Given the description of an element on the screen output the (x, y) to click on. 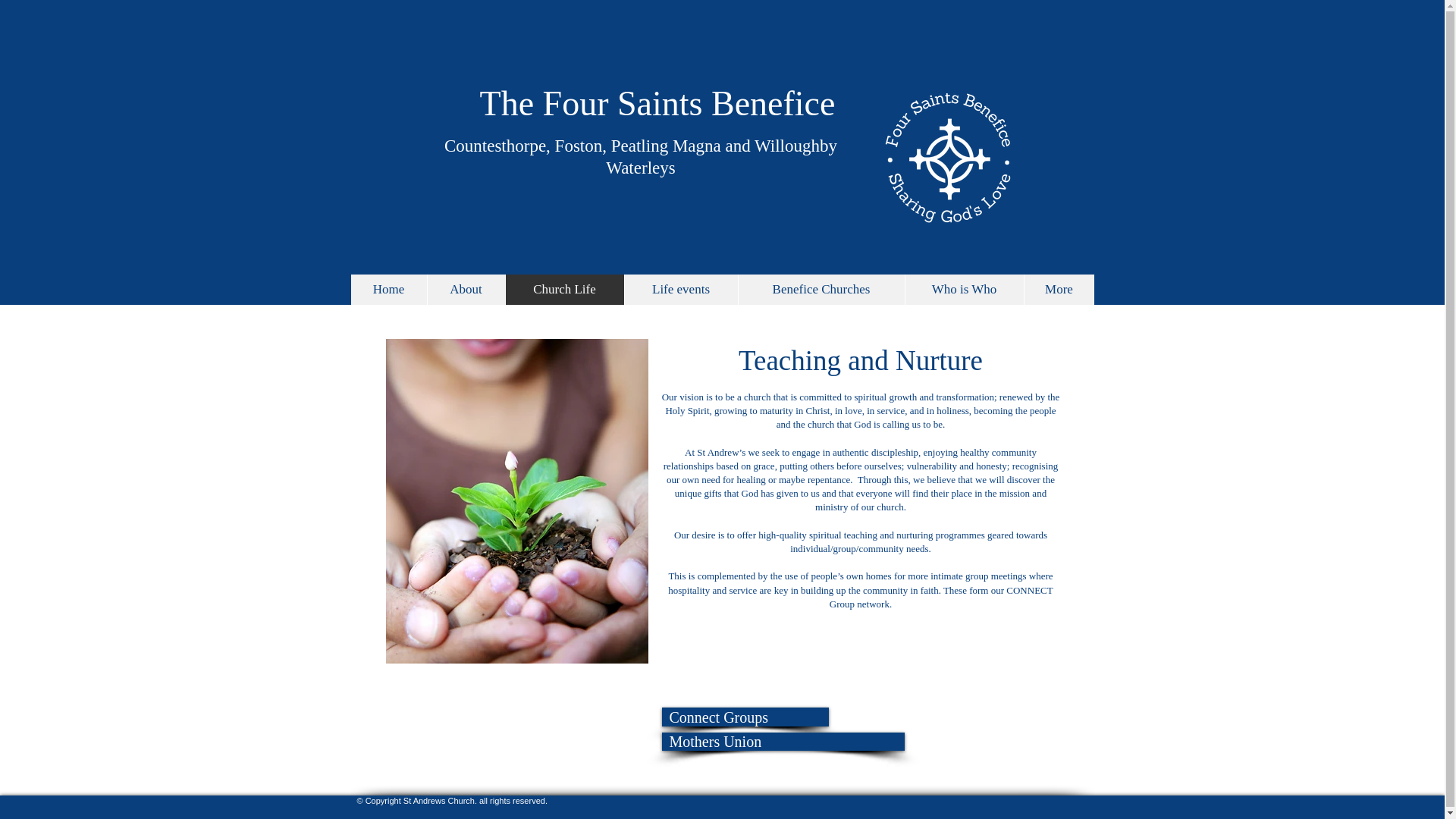
Four Saints Logo - White.png (948, 156)
Connect Groups (744, 716)
Home (388, 289)
Life events (679, 289)
Who is Who (963, 289)
Church Life (564, 289)
Benefice Churches (820, 289)
Mothers Union (782, 741)
About (464, 289)
